Given the description of an element on the screen output the (x, y) to click on. 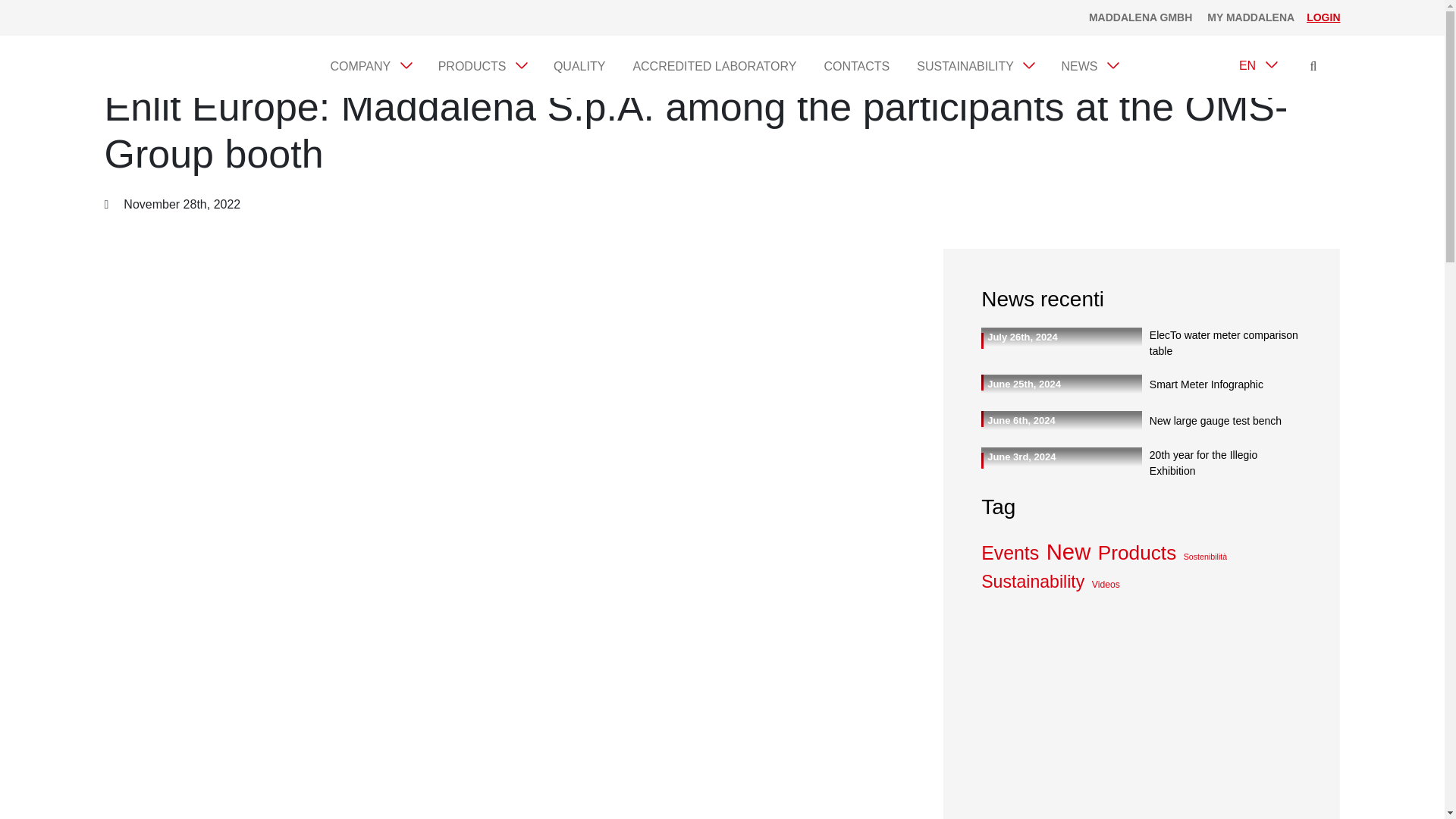
MADDALENA GMBH (1140, 17)
MY MADDALENA (1250, 17)
NEWS (1088, 66)
CONTACTS (855, 66)
ElecTo water meter comparison table (1222, 343)
Vai alla homepage (180, 66)
Home (118, 43)
Smart Meter Infographic (1222, 384)
PRODUCTS (482, 66)
SUSTAINABILITY (975, 66)
ACCREDITED LABORATORY (714, 66)
Blog (156, 43)
LOGIN (1322, 17)
QUALITY (579, 66)
COMPANY (370, 66)
